Given the description of an element on the screen output the (x, y) to click on. 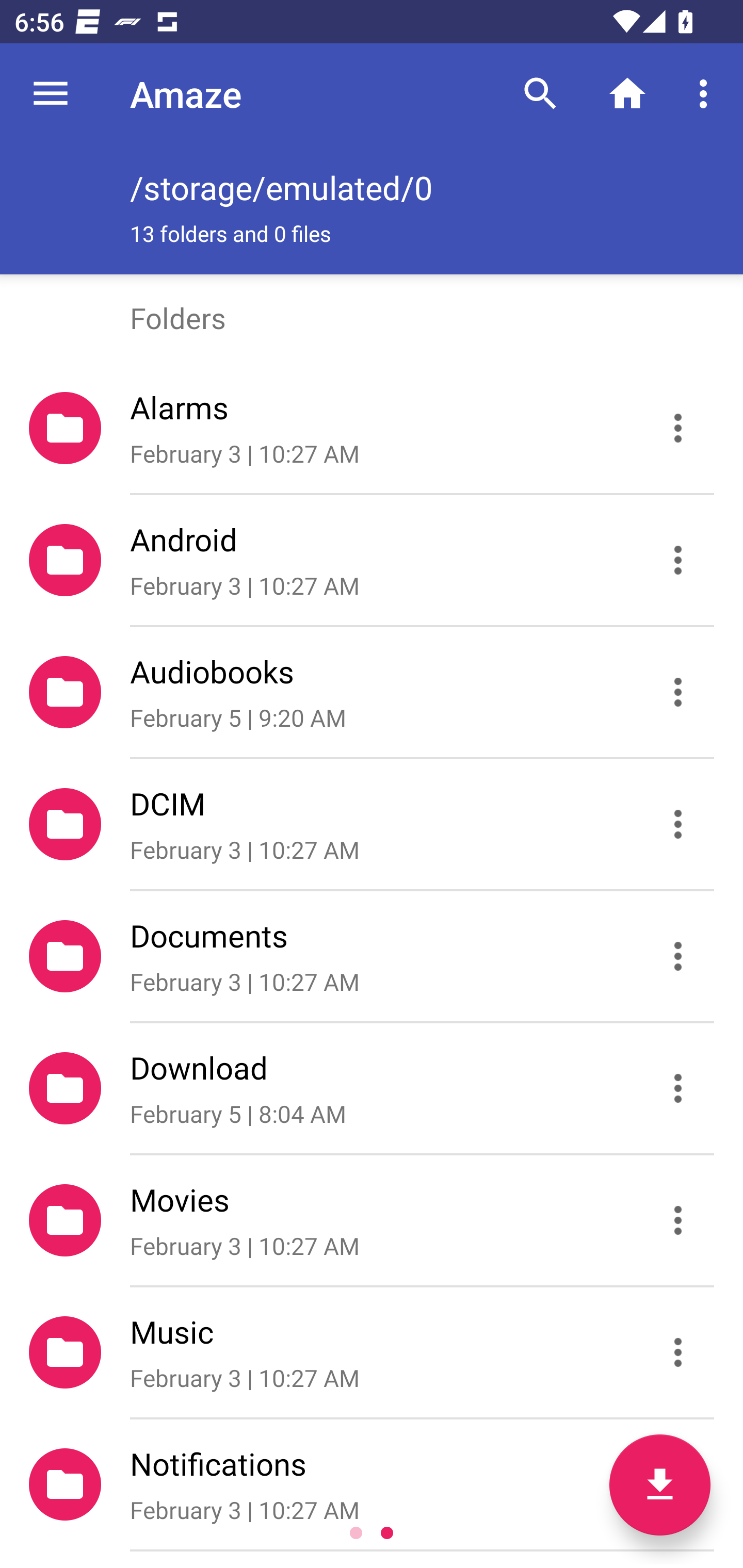
Navigate up (50, 93)
Search (540, 93)
Home (626, 93)
More options (706, 93)
Alarms February 3 | 10:27 AM (371, 427)
Android February 3 | 10:27 AM (371, 560)
Audiobooks February 5 | 9:20 AM (371, 692)
DCIM February 3 | 10:27 AM (371, 823)
Documents February 3 | 10:27 AM (371, 955)
Download February 5 | 8:04 AM (371, 1088)
Movies February 3 | 10:27 AM (371, 1220)
Music February 3 | 10:27 AM (371, 1352)
Notifications February 3 | 10:27 AM (371, 1484)
